Given the description of an element on the screen output the (x, y) to click on. 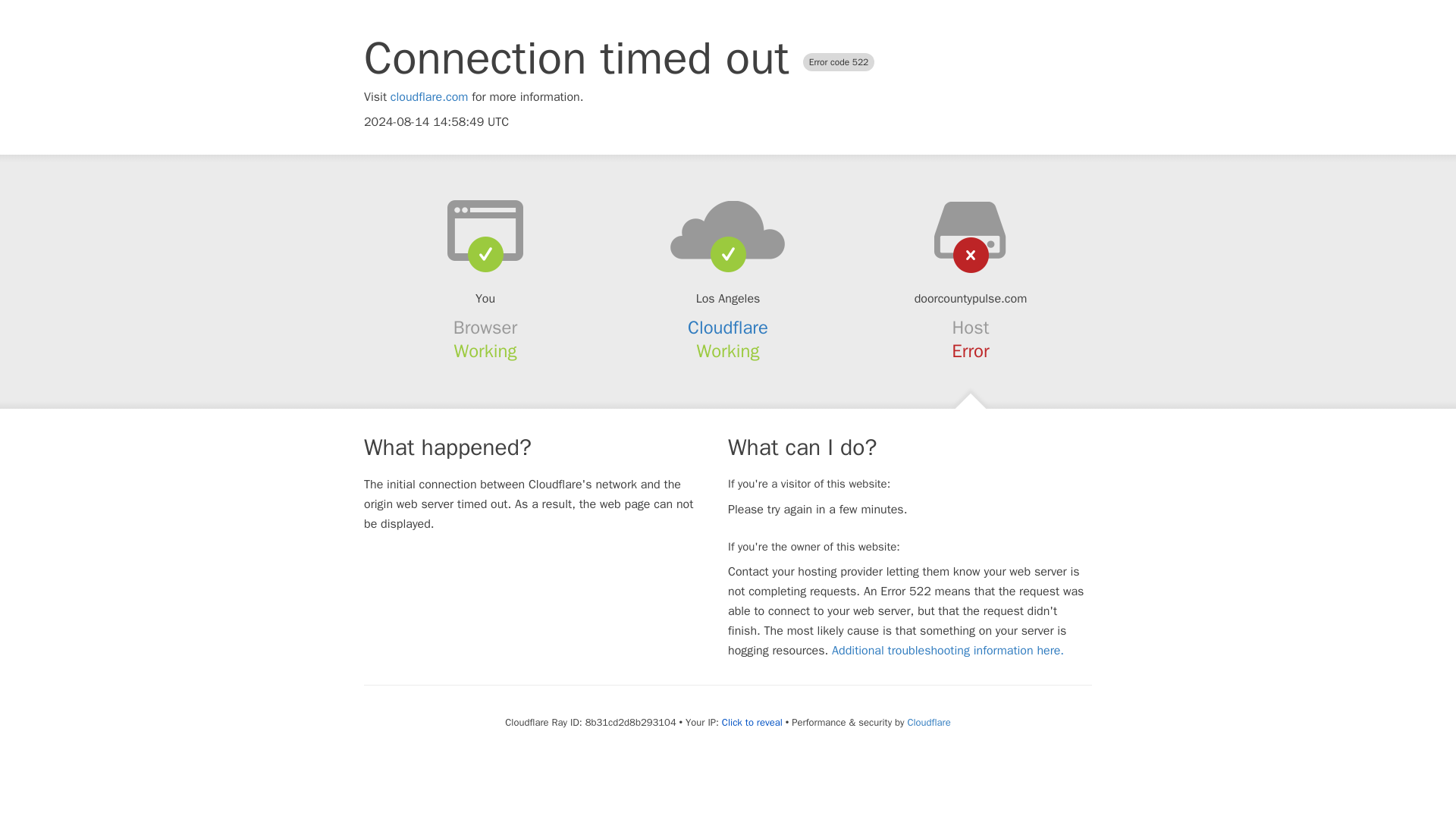
Additional troubleshooting information here. (947, 650)
cloudflare.com (429, 96)
Click to reveal (752, 722)
Cloudflare (928, 721)
Cloudflare (727, 327)
